Given the description of an element on the screen output the (x, y) to click on. 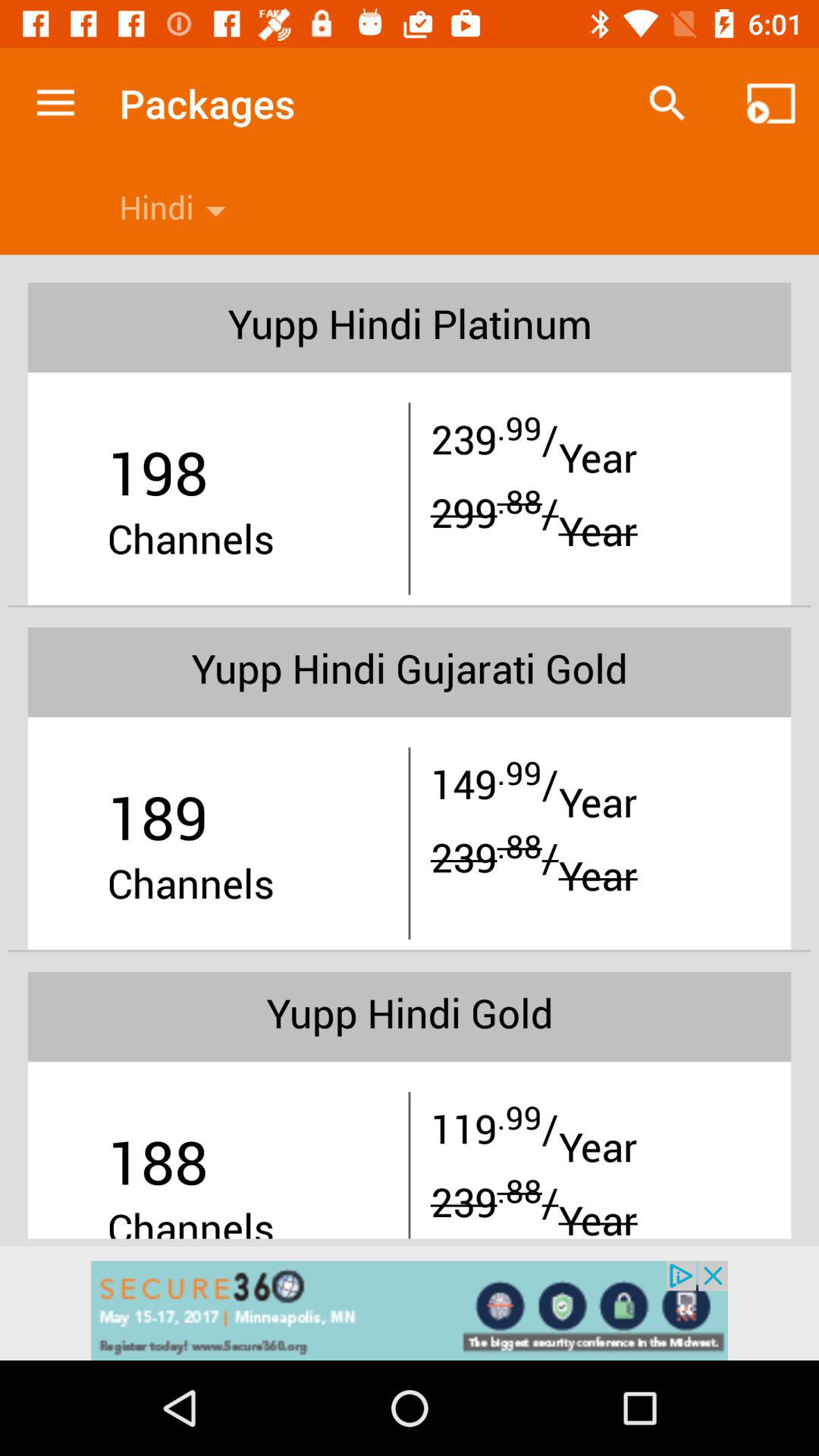
so the advertisement (409, 1310)
